Given the description of an element on the screen output the (x, y) to click on. 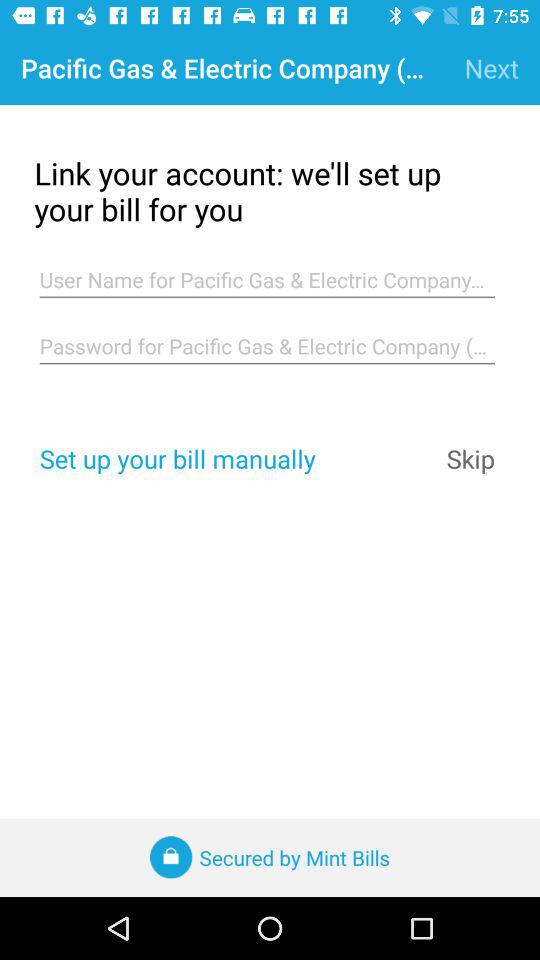
flip to skip icon (470, 458)
